Given the description of an element on the screen output the (x, y) to click on. 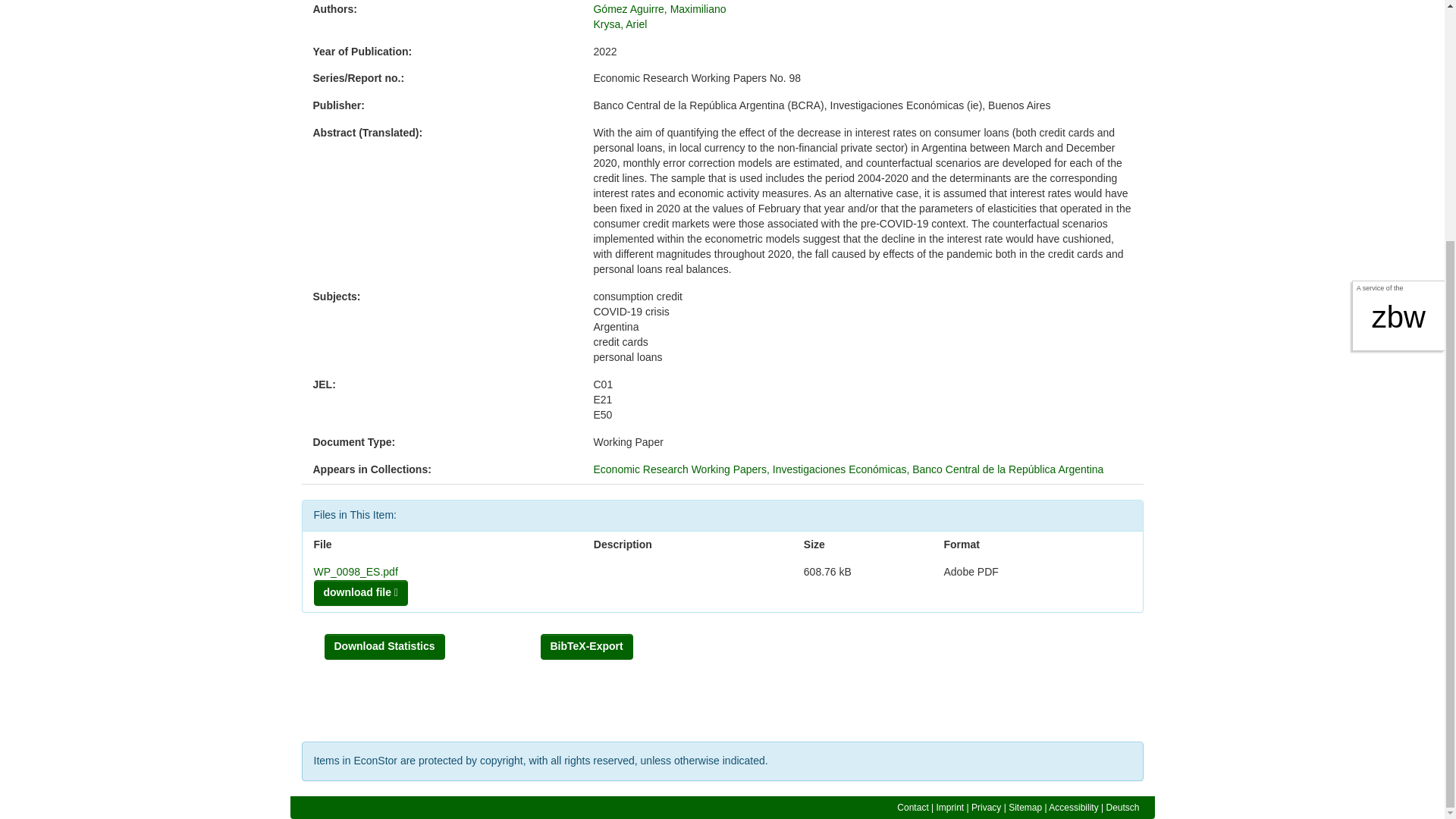
zbw (1398, 0)
